Given the description of an element on the screen output the (x, y) to click on. 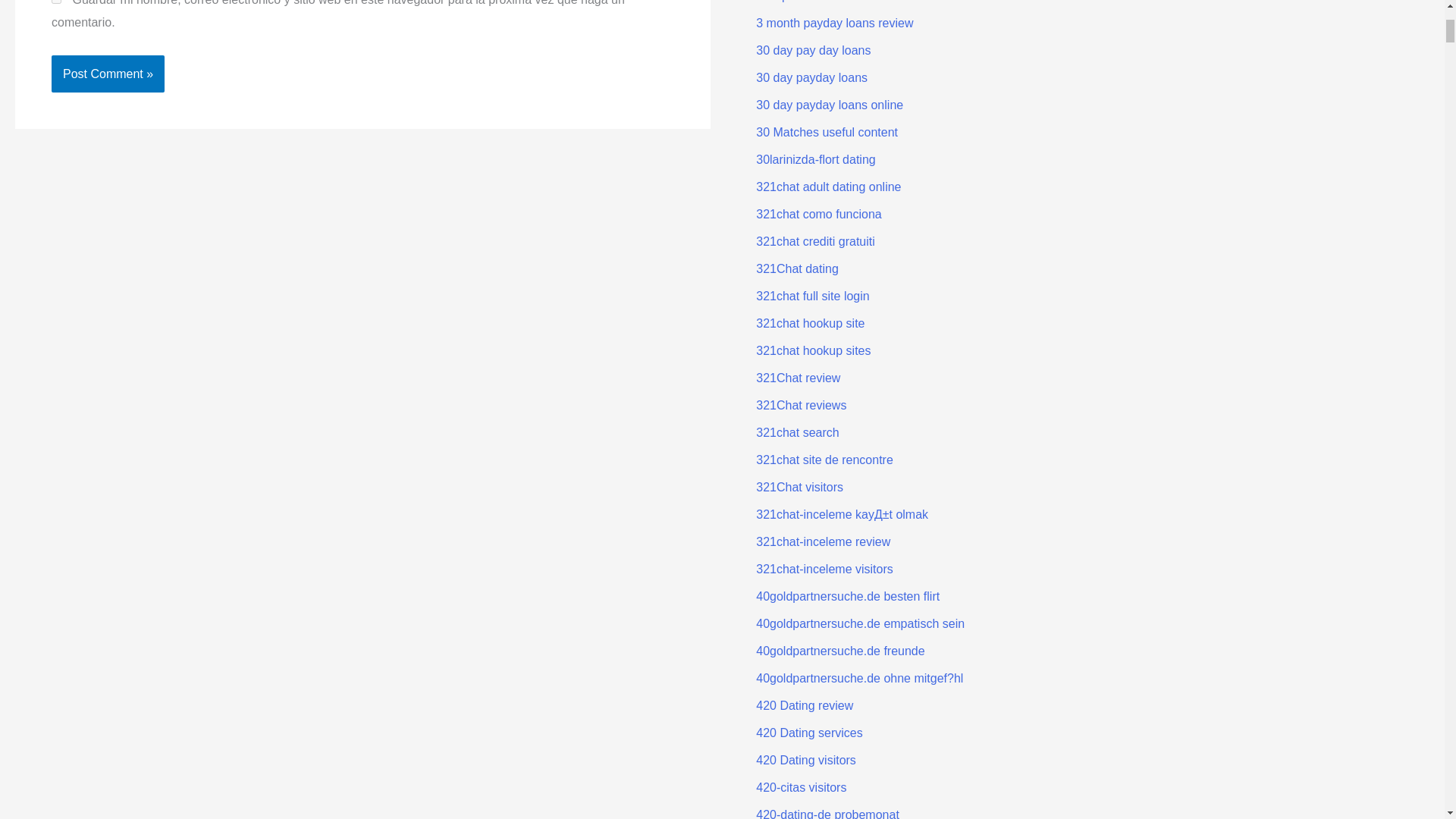
yes (55, 2)
